Given the description of an element on the screen output the (x, y) to click on. 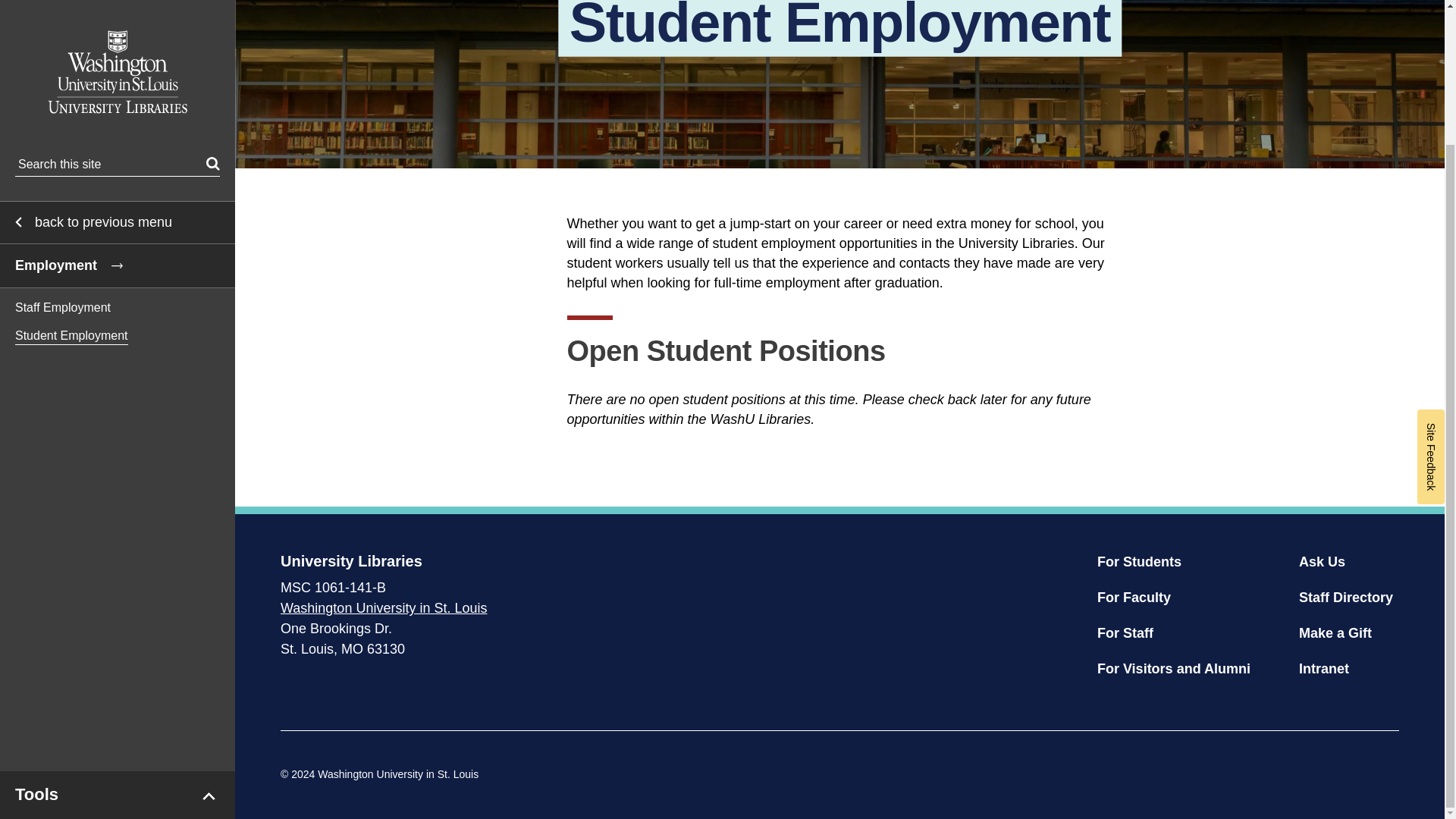
Research Support (117, 192)
Staff Employment (117, 143)
Student Employment (117, 171)
News (117, 324)
Special Collections (117, 236)
back to previous menu (117, 57)
About (117, 58)
Locations (117, 103)
Employment (117, 101)
Exhibitions (117, 280)
Services (117, 147)
Submit (212, 2)
Events (117, 365)
